Given the description of an element on the screen output the (x, y) to click on. 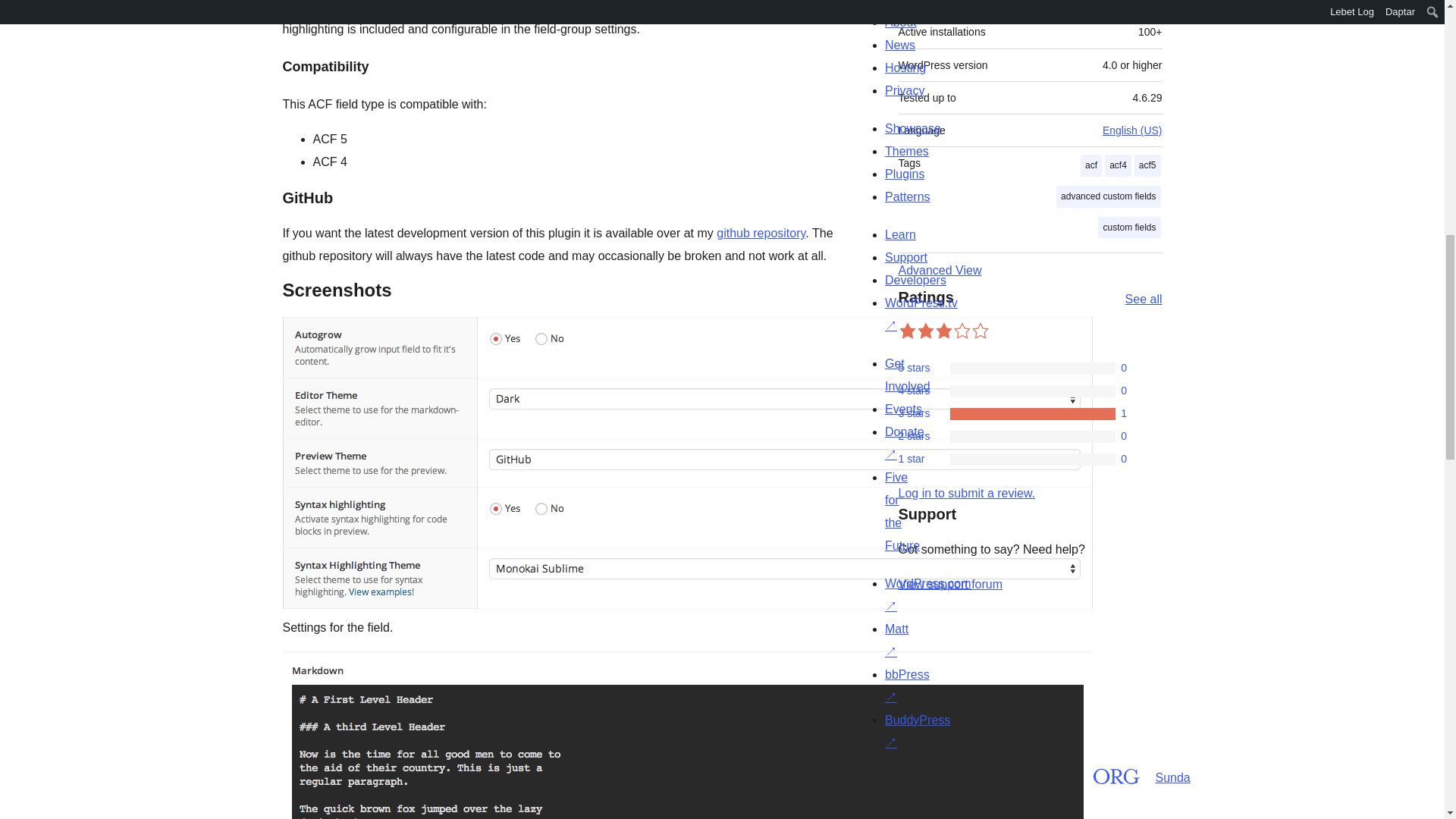
WordPress.org (864, 773)
github repository (760, 232)
WordPress.org (1014, 773)
Log in to WordPress.org (966, 492)
